Given the description of an element on the screen output the (x, y) to click on. 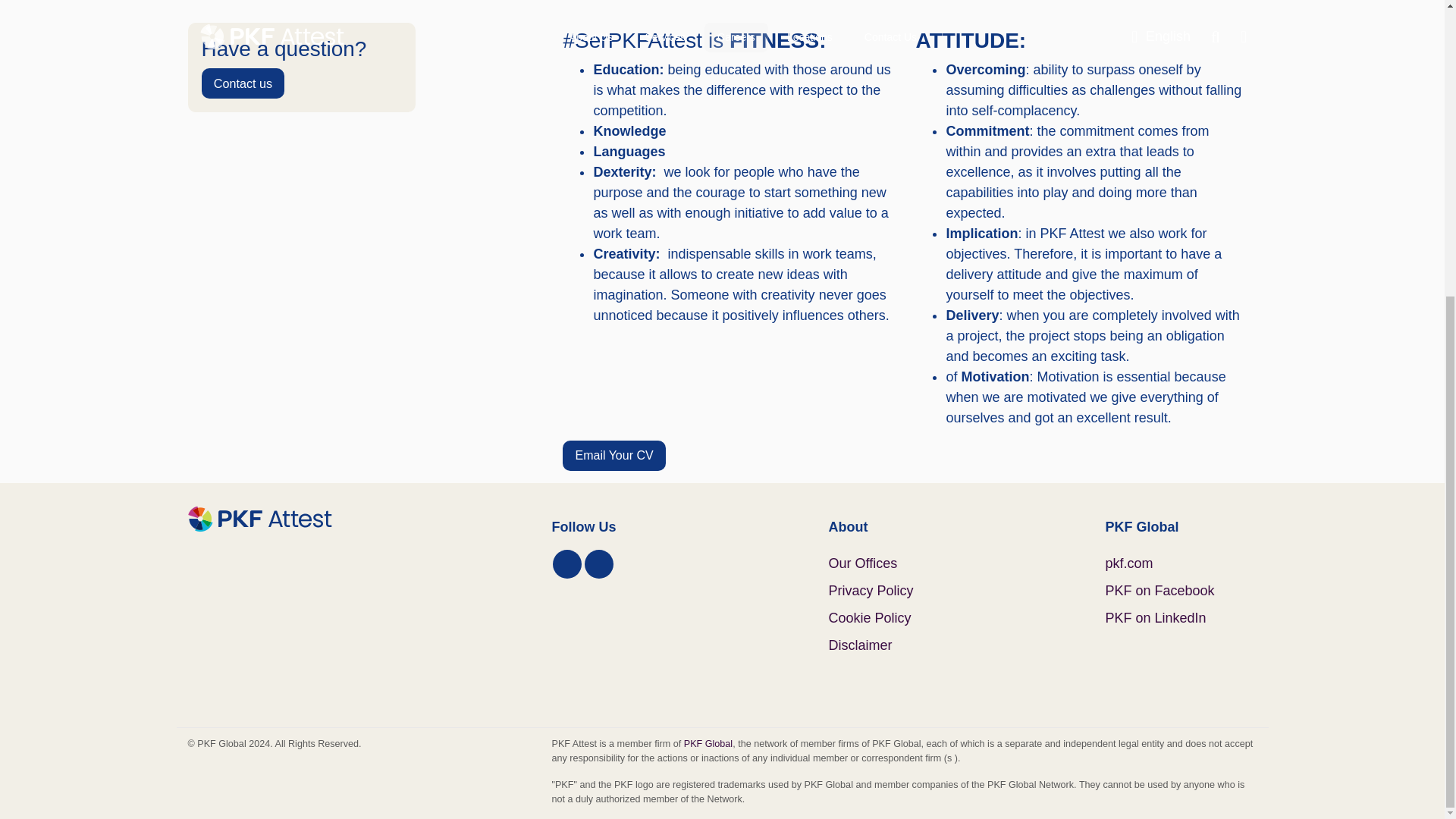
Contact us (243, 82)
